Given the description of an element on the screen output the (x, y) to click on. 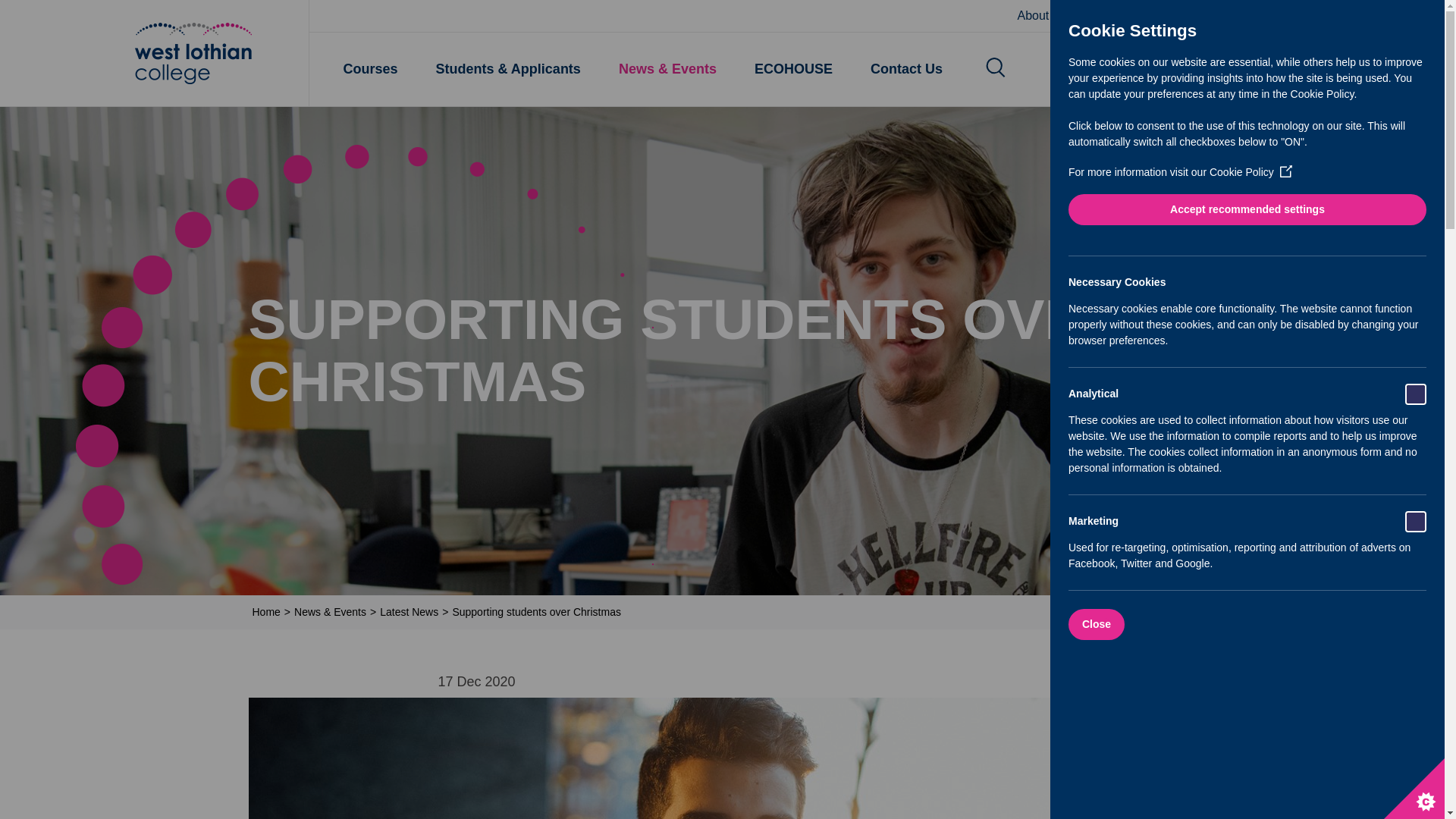
Moodle (1109, 15)
MyCollege (1181, 15)
Close (1294, 624)
Accessibility (1264, 15)
Courses (369, 69)
About Us (1042, 15)
